Given the description of an element on the screen output the (x, y) to click on. 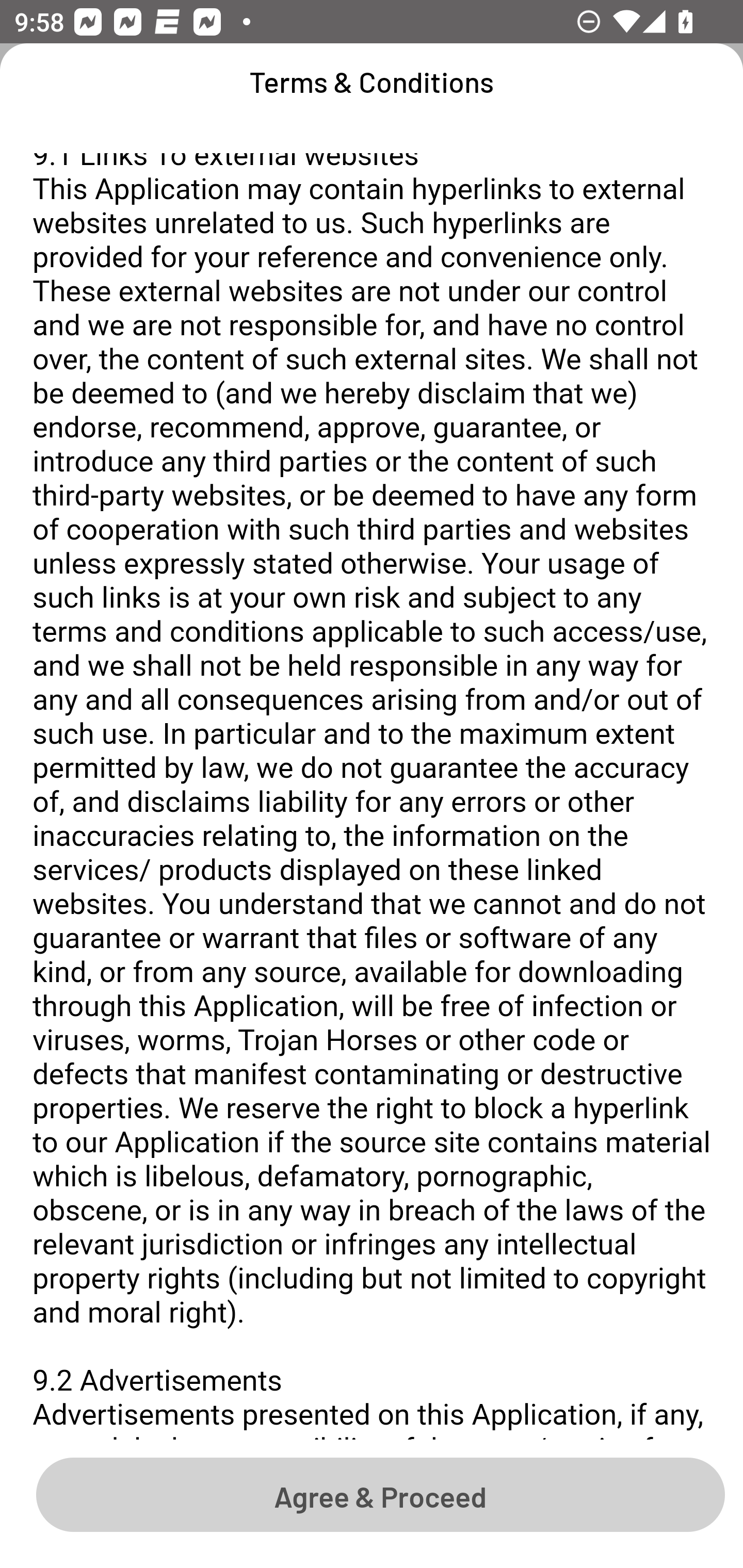
Agree & Proceed (380, 1494)
